Given the description of an element on the screen output the (x, y) to click on. 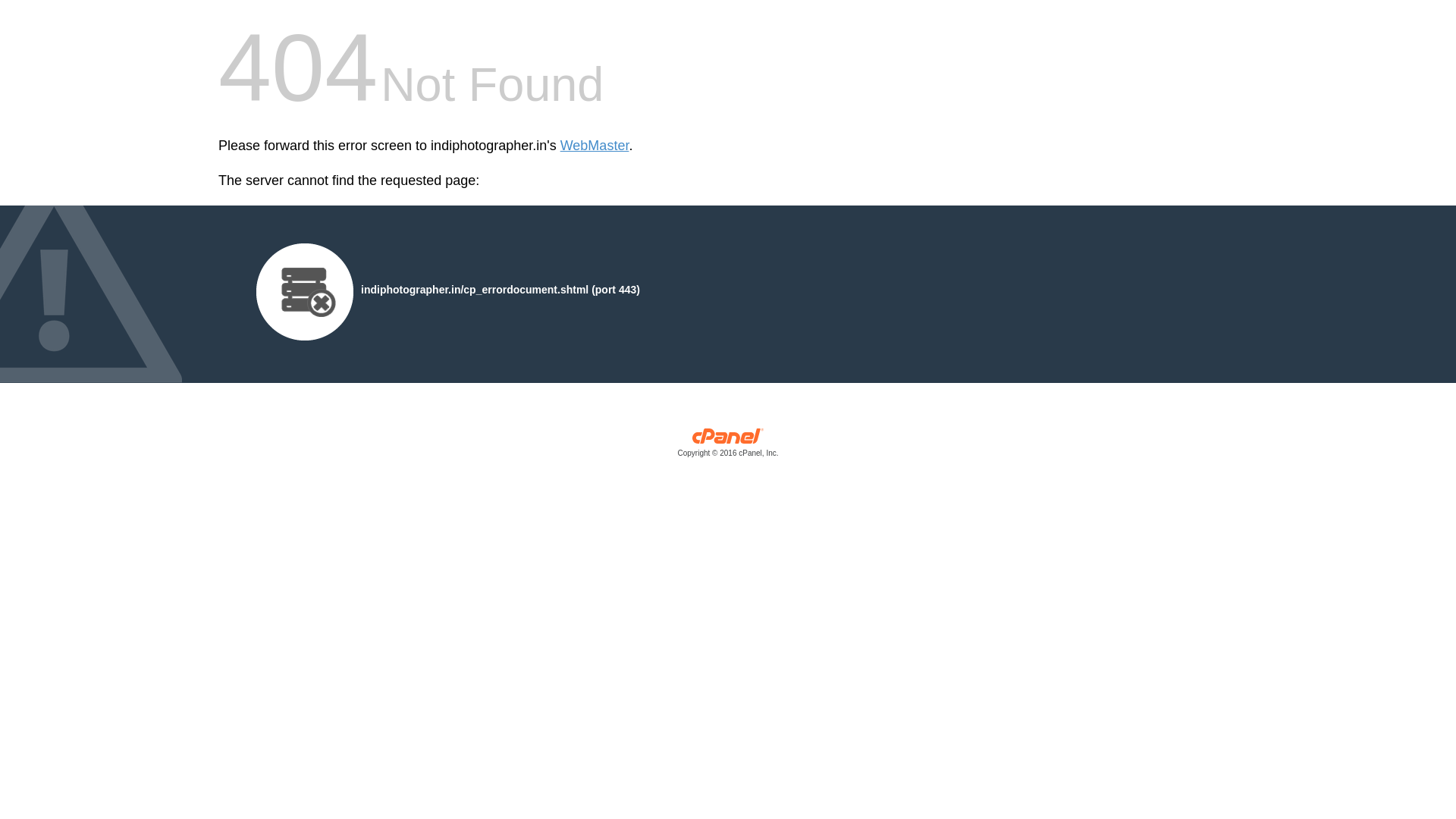
cPanel, Inc. (727, 446)
WebMaster (594, 145)
